Given the description of an element on the screen output the (x, y) to click on. 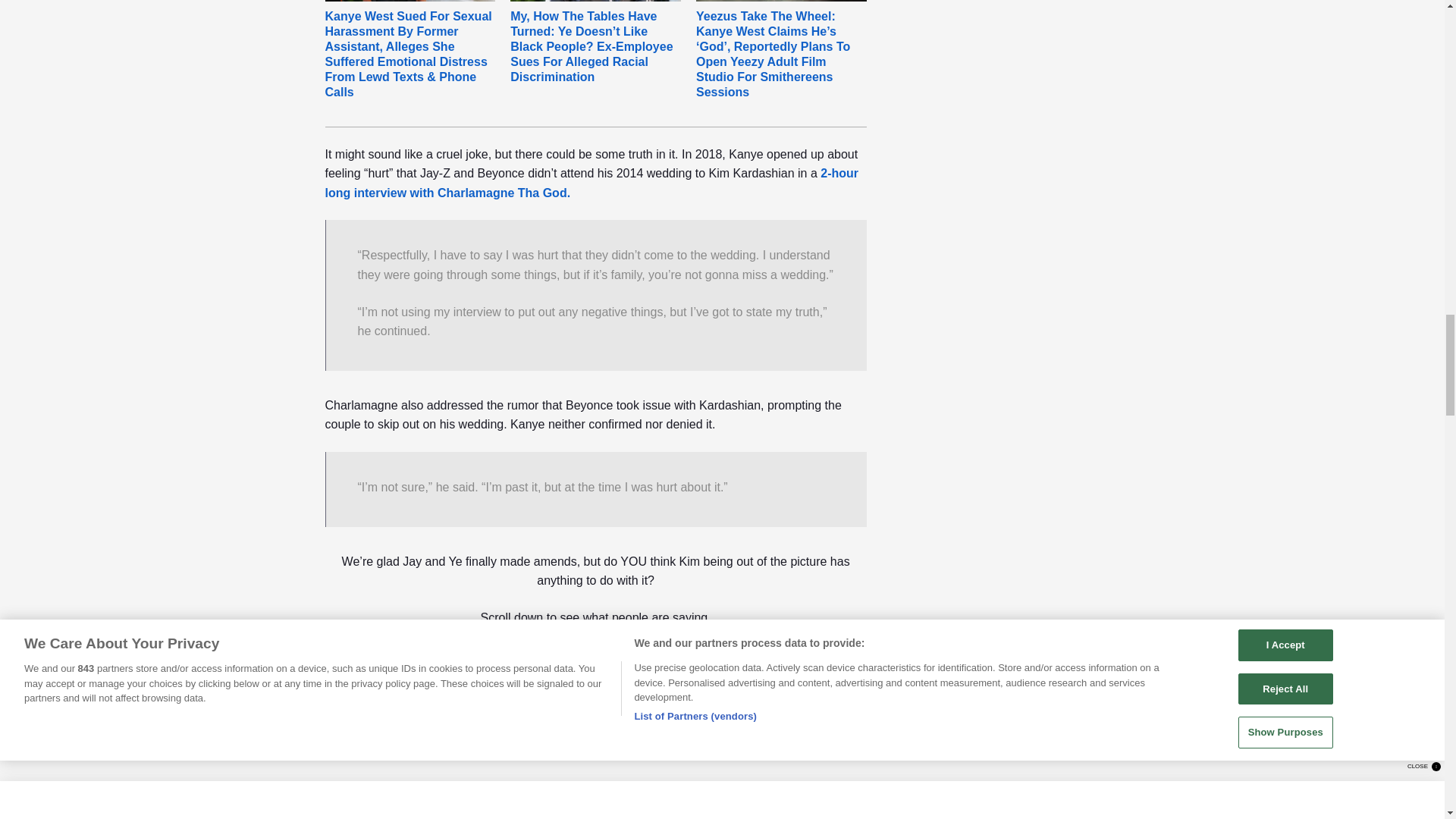
2-hour long interview with Charlamagne Tha God. (591, 183)
